Given the description of an element on the screen output the (x, y) to click on. 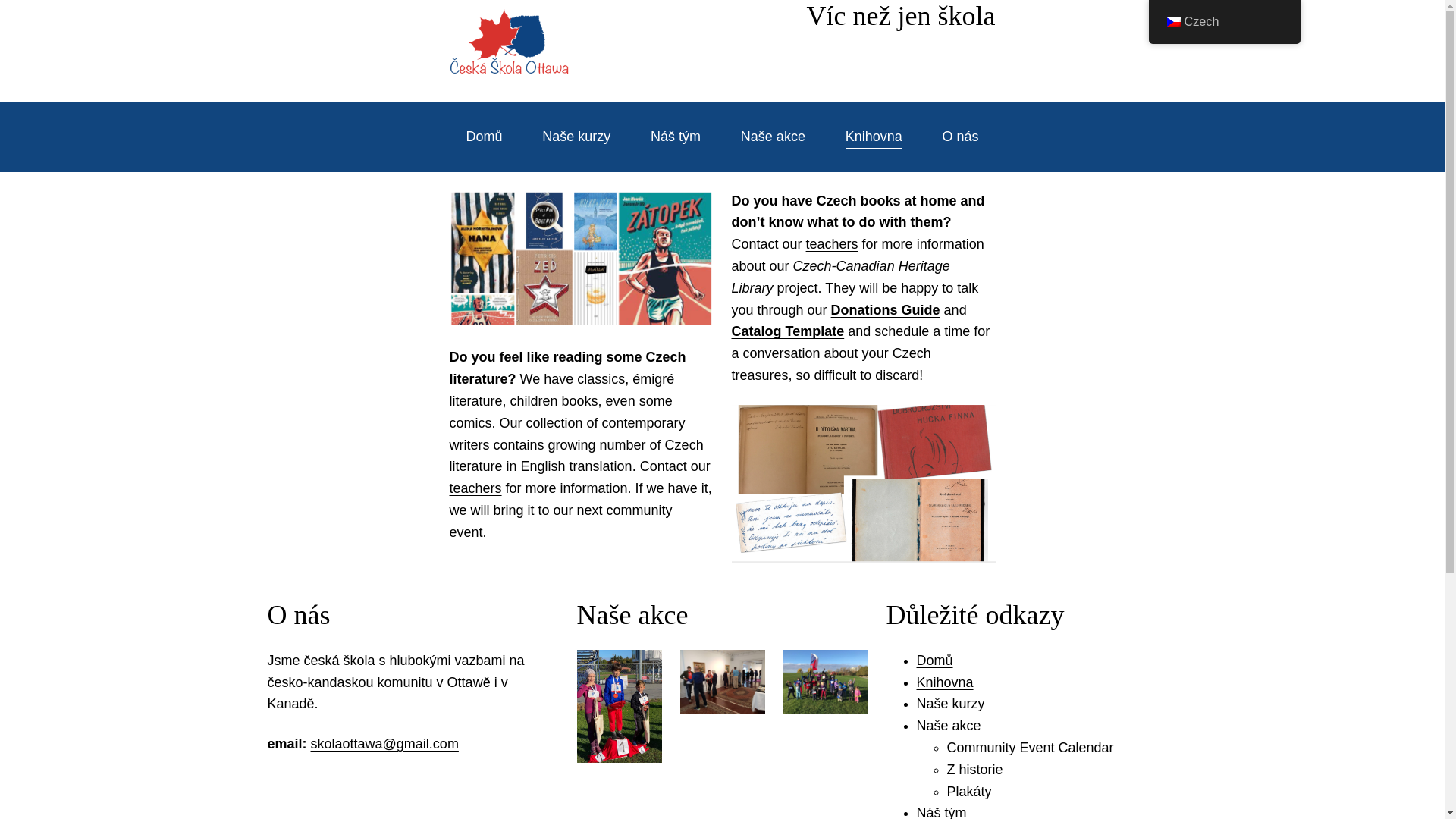
Z historie (974, 769)
Knihovna (943, 682)
teachers (474, 488)
Community Event Calendar (1029, 747)
teachers (832, 243)
Catalog Template (787, 331)
Czech (1224, 21)
Knihovna (873, 136)
Czech (1172, 21)
Donations Guide (885, 309)
